Given the description of an element on the screen output the (x, y) to click on. 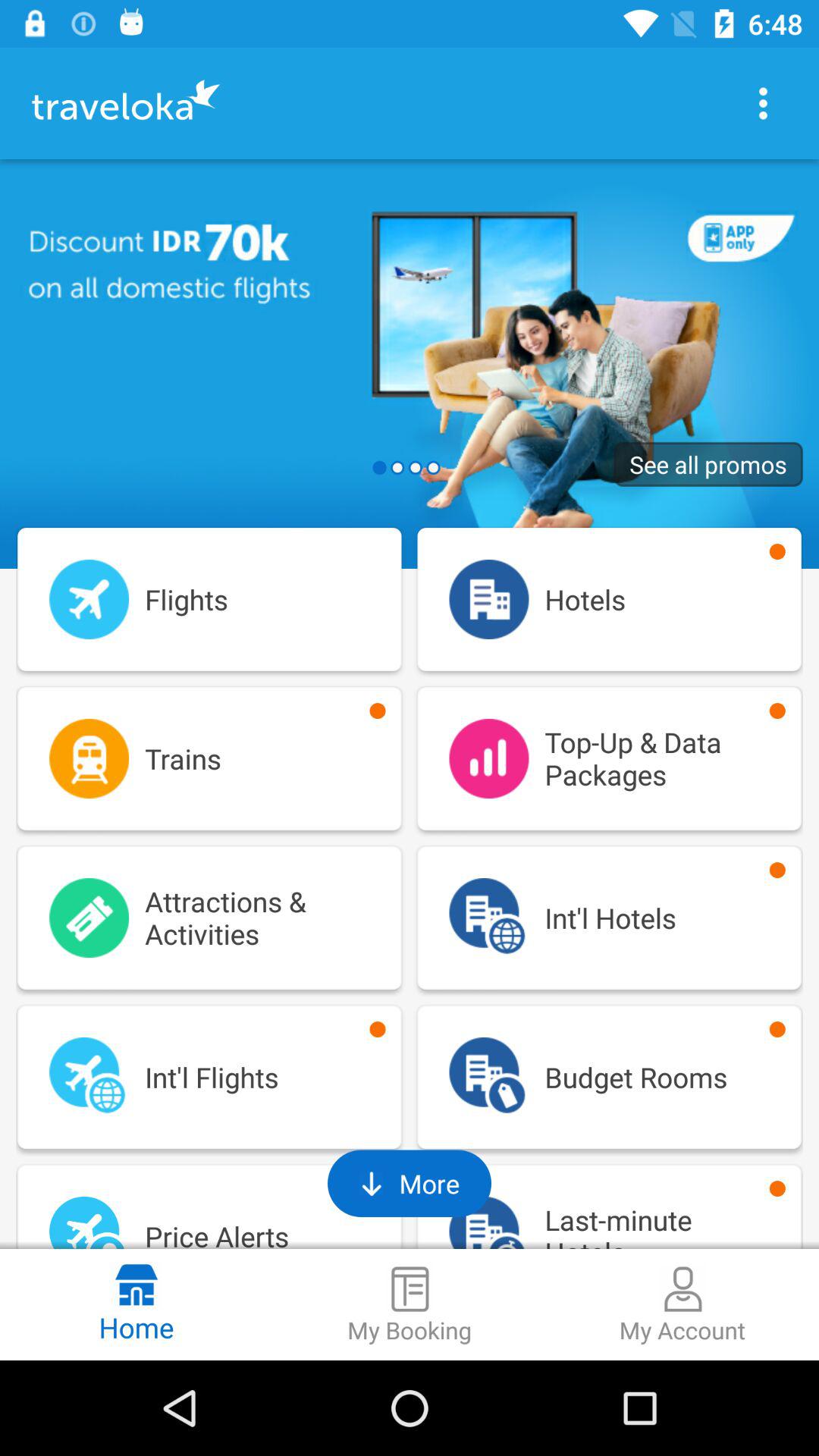
i like their options (763, 103)
